Given the description of an element on the screen output the (x, y) to click on. 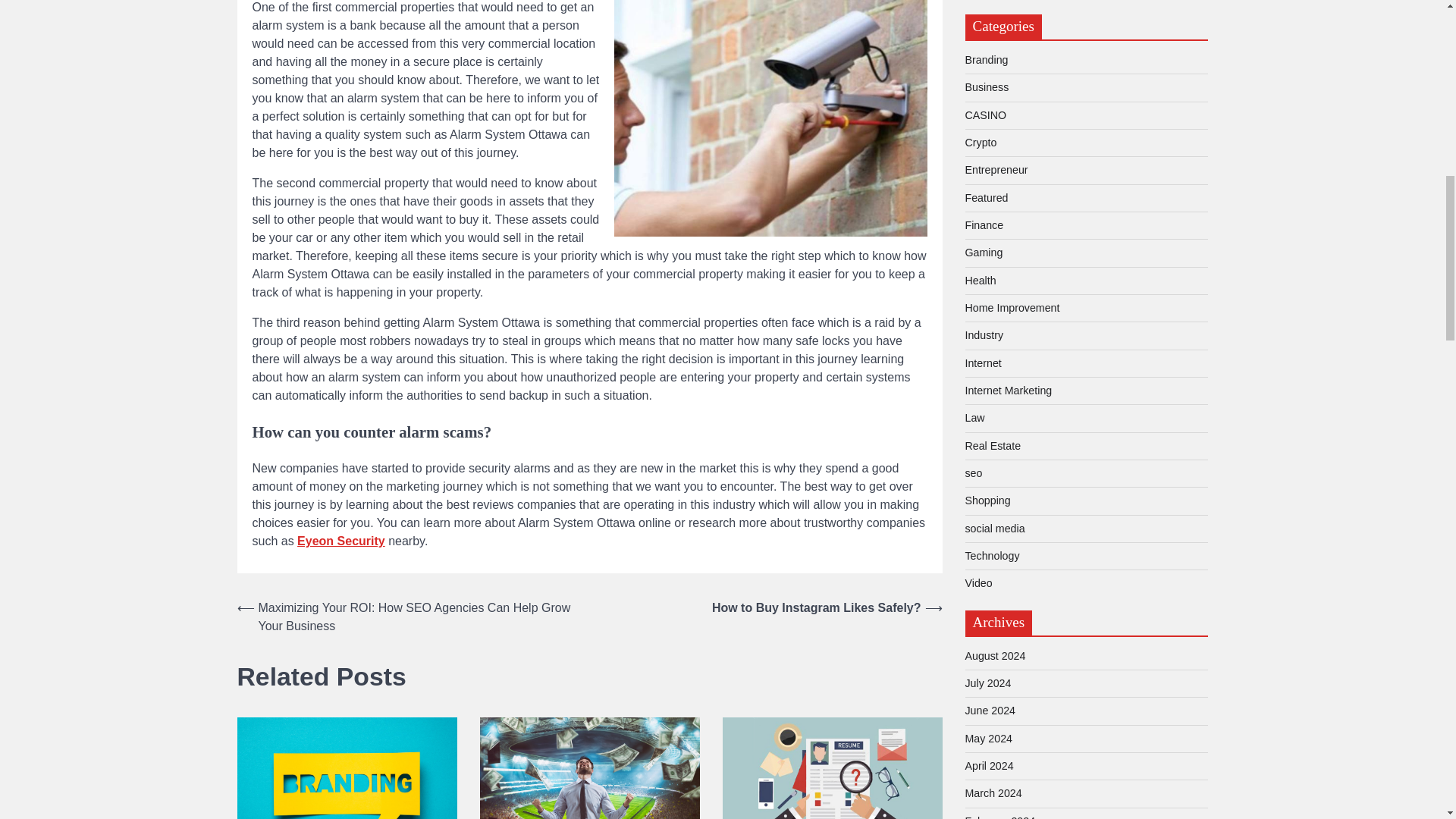
Law (973, 417)
Crypto (979, 142)
Home Improvement (1011, 307)
Internet Marketing (1007, 390)
Health (979, 280)
Eyeon Security (341, 540)
Internet (982, 363)
Featured (985, 197)
Finance (983, 224)
Gaming (983, 252)
